Given the description of an element on the screen output the (x, y) to click on. 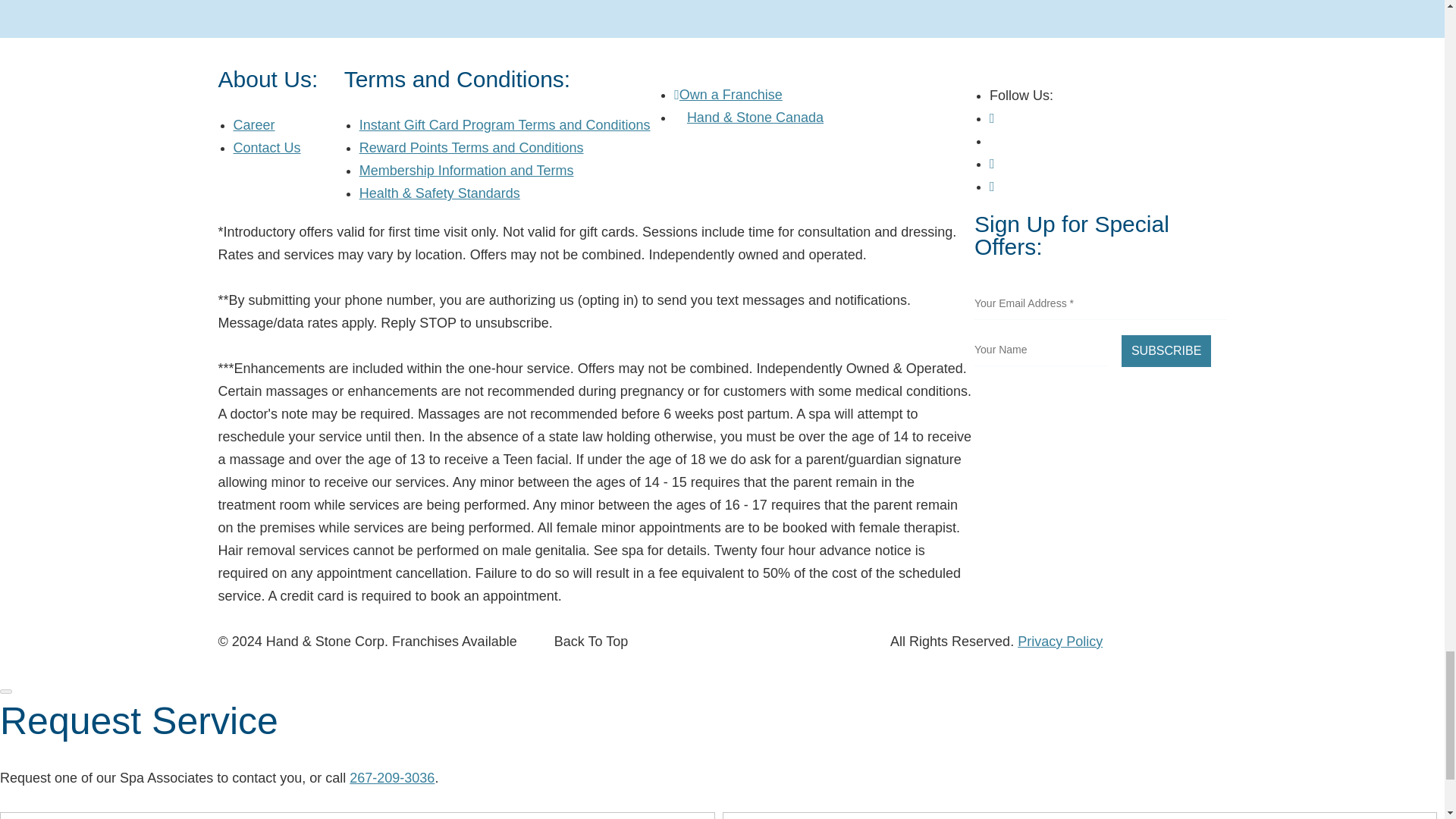
Back To Top (590, 641)
Subscribe (1166, 350)
Find Us On Twitter (995, 140)
